Given the description of an element on the screen output the (x, y) to click on. 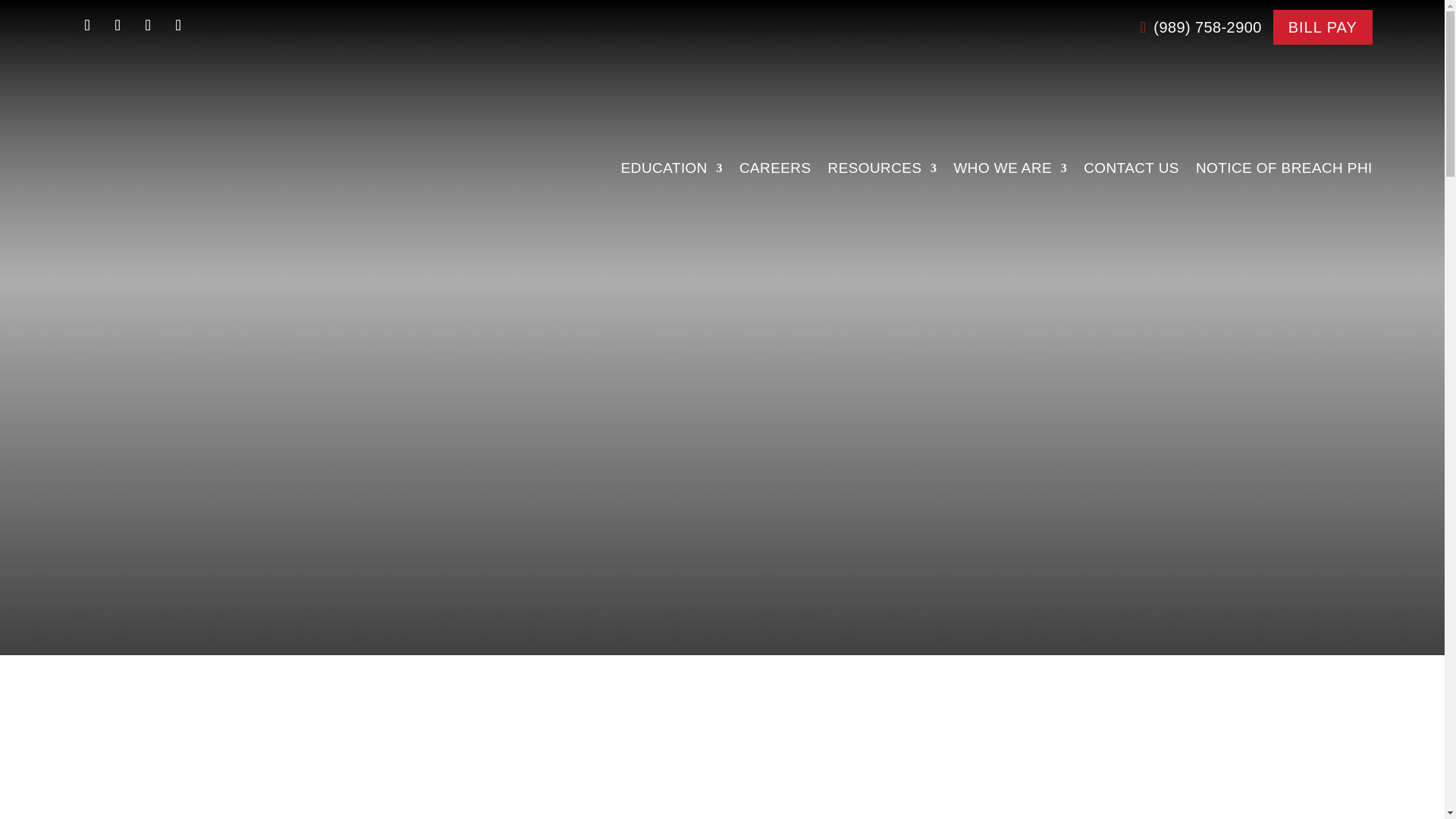
Follow on LinkedIn (116, 24)
BILL PAY (1322, 27)
Follow on Youtube (178, 24)
Follow on Instagram (147, 24)
Follow on Facebook (86, 24)
